Given the description of an element on the screen output the (x, y) to click on. 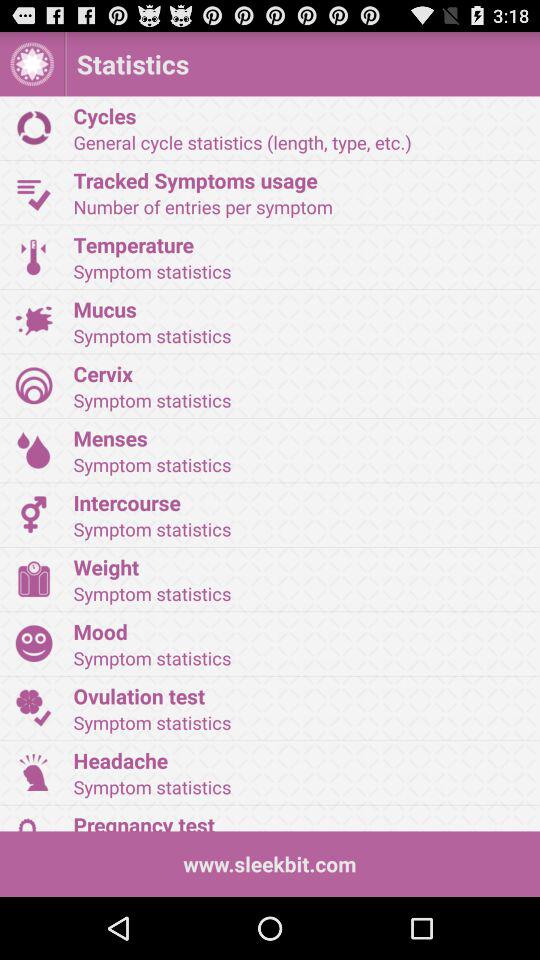
turn on item below symptom statistics (299, 566)
